Given the description of an element on the screen output the (x, y) to click on. 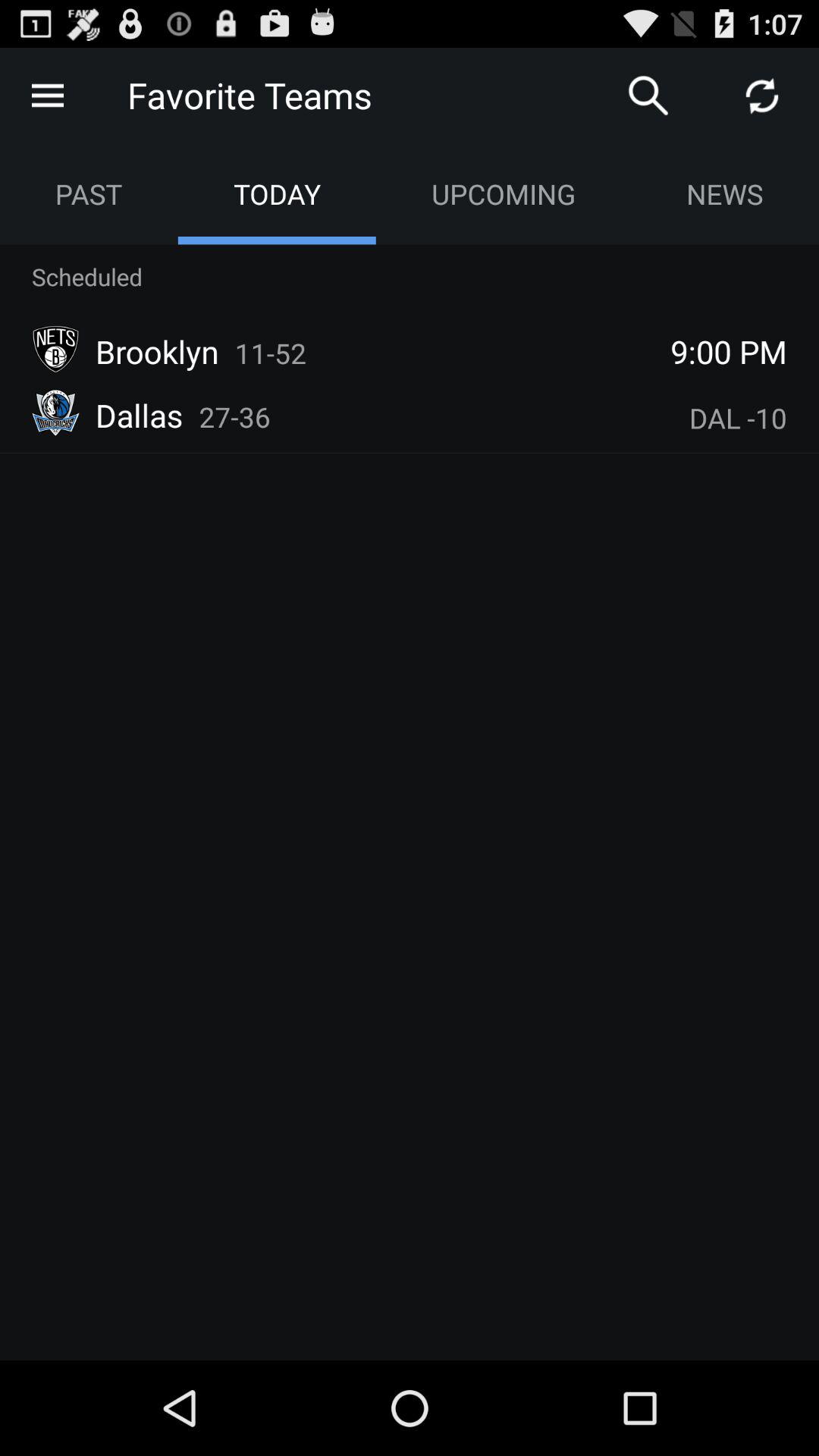
toggle refresh (762, 95)
